Given the description of an element on the screen output the (x, y) to click on. 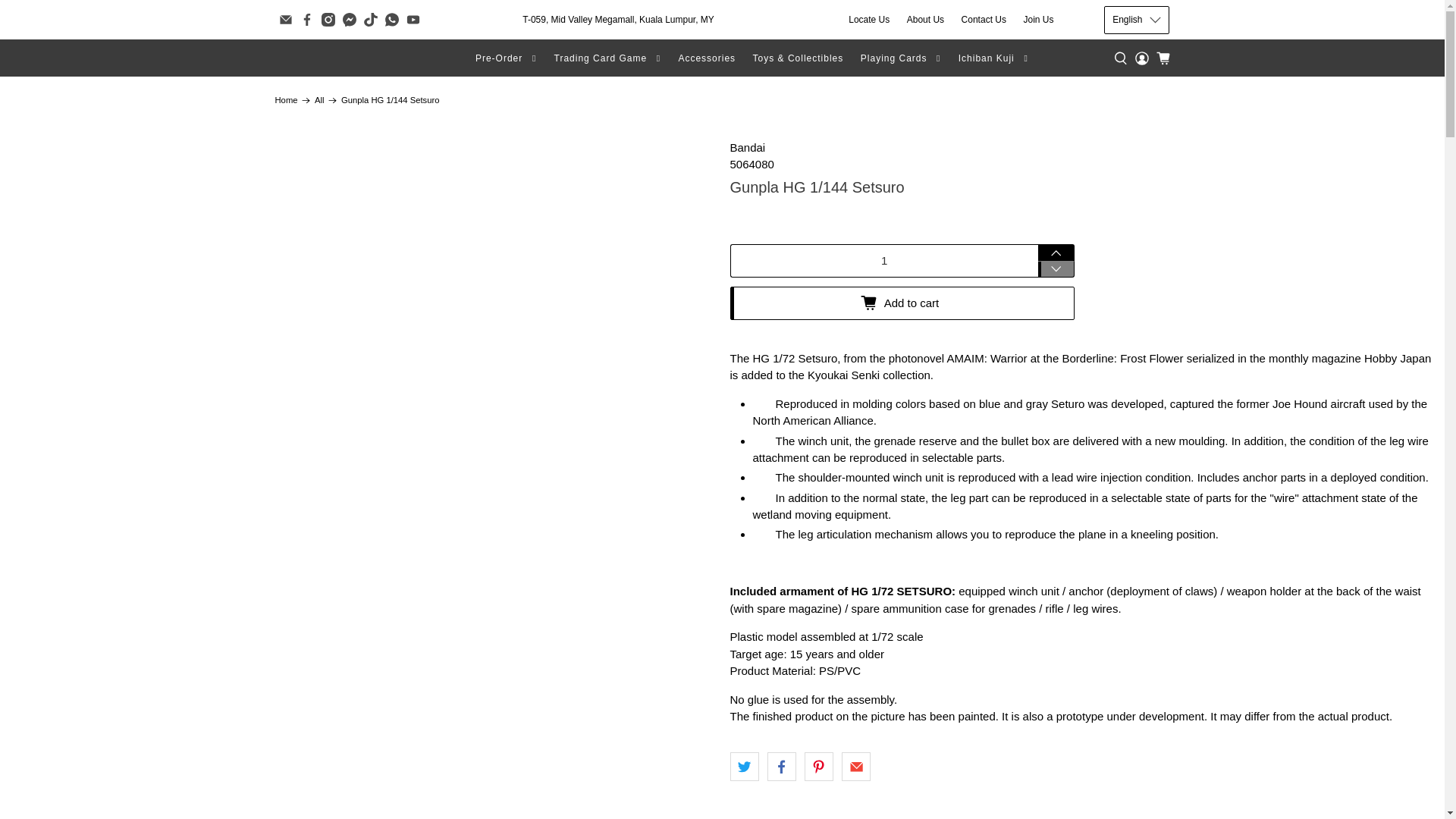
Locate Us (869, 19)
Ichiban Kuji (992, 58)
Bandai (747, 146)
Accessories (706, 58)
About Us (925, 19)
en (1136, 52)
Contact Us (983, 19)
Join Us (1038, 19)
Playing Cards (900, 58)
Pre-Order (506, 58)
